Given the description of an element on the screen output the (x, y) to click on. 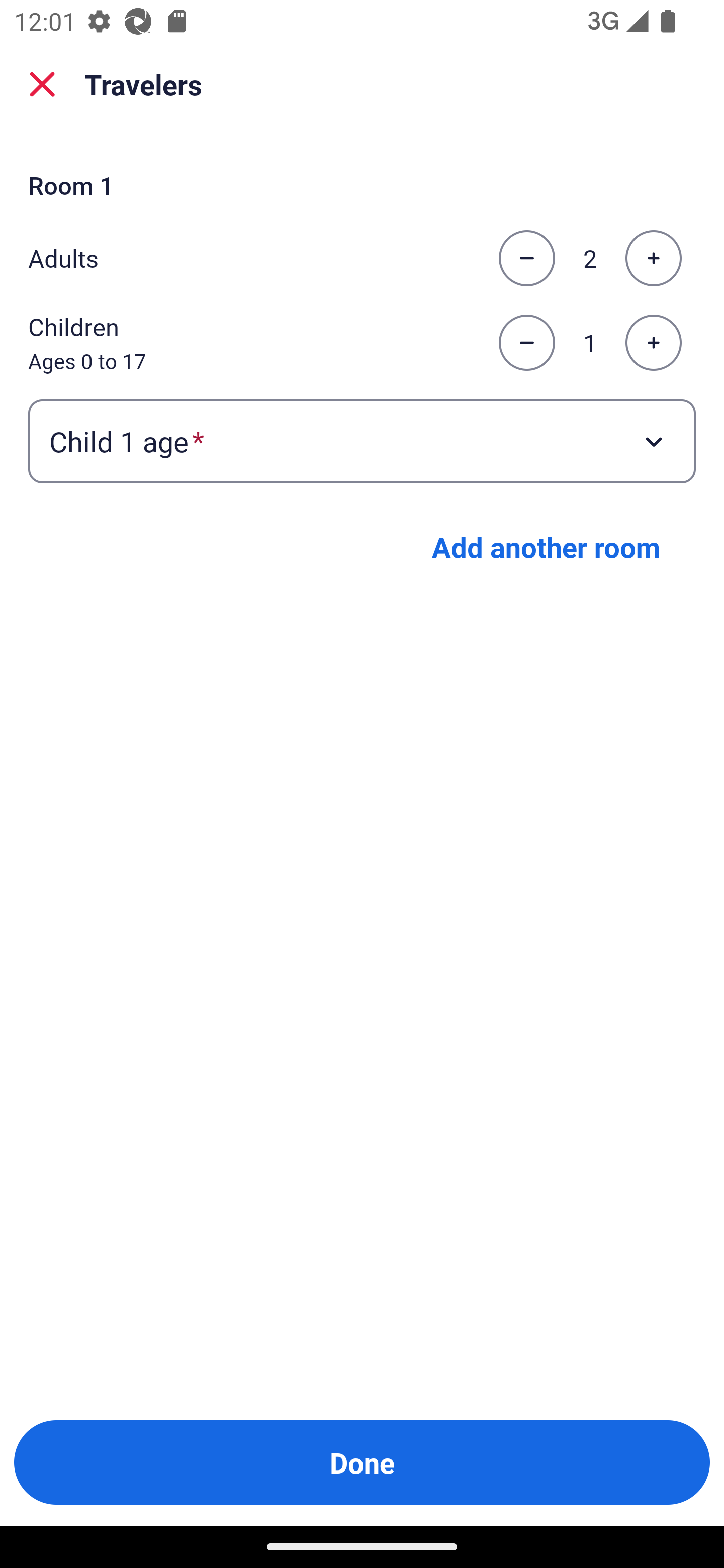
close (42, 84)
Decrease the number of adults (526, 258)
Increase the number of adults (653, 258)
Decrease the number of children (526, 343)
Increase the number of children (653, 343)
Child 1 age required Button (361, 440)
Add another room (545, 546)
Done (361, 1462)
